Given the description of an element on the screen output the (x, y) to click on. 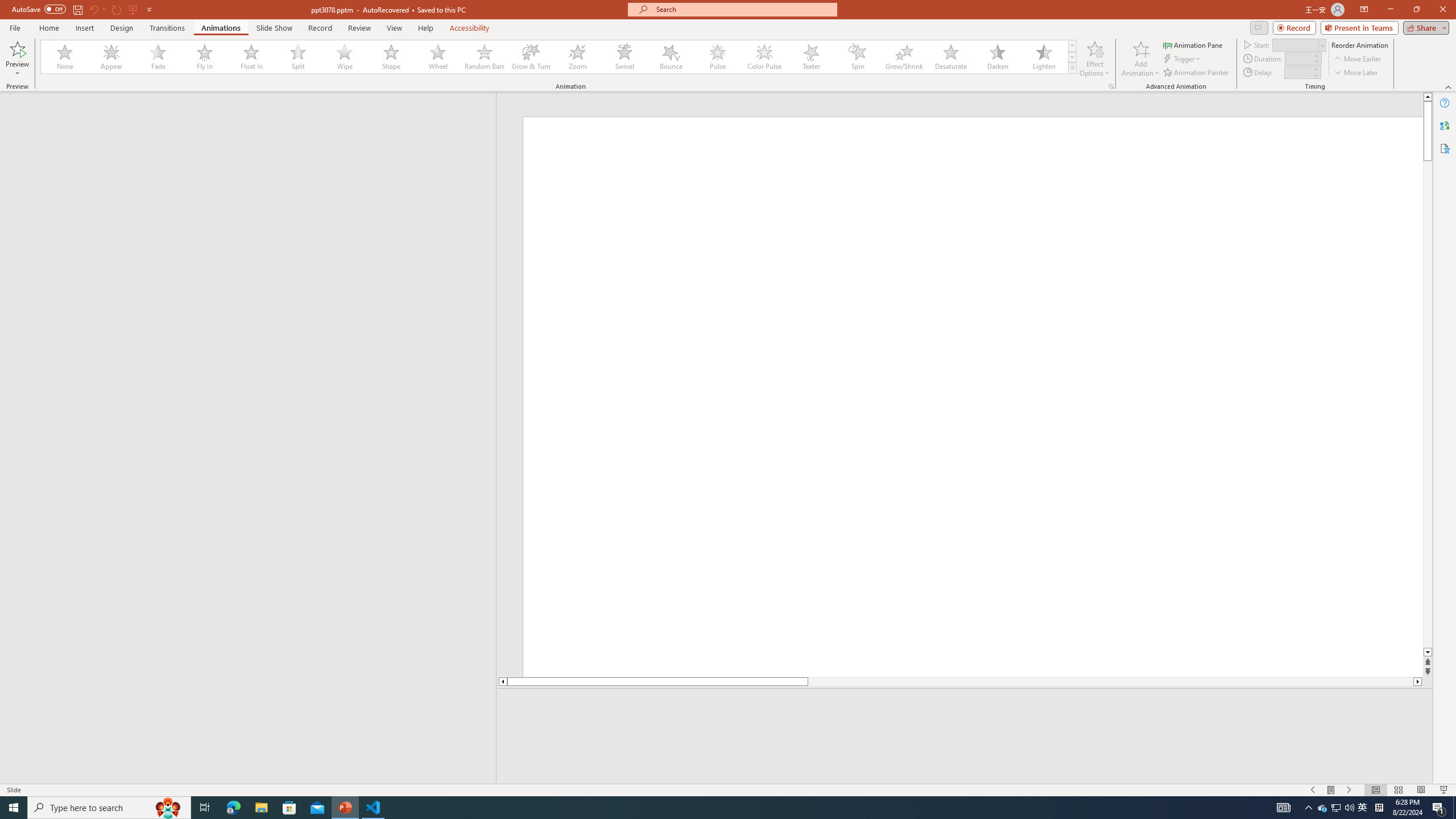
Move Later (1355, 72)
AutomationID: AnimationGallery (558, 56)
Bounce (670, 56)
Spin (857, 56)
Pulse (717, 56)
Trigger (1182, 58)
Desaturate (950, 56)
